Given the description of an element on the screen output the (x, y) to click on. 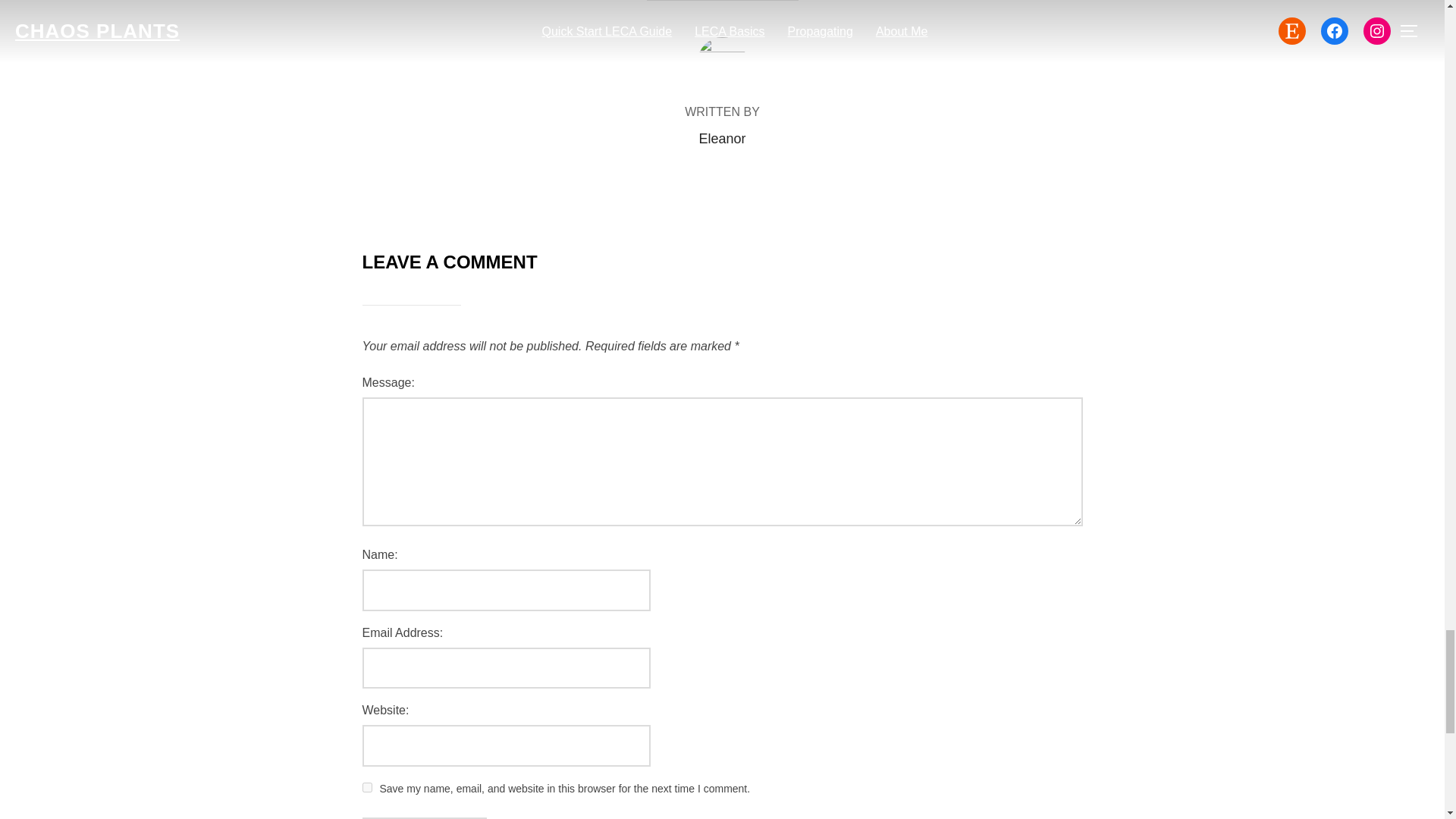
Posts by Eleanor (721, 138)
yes (367, 787)
Post Comment (424, 818)
